Given the description of an element on the screen output the (x, y) to click on. 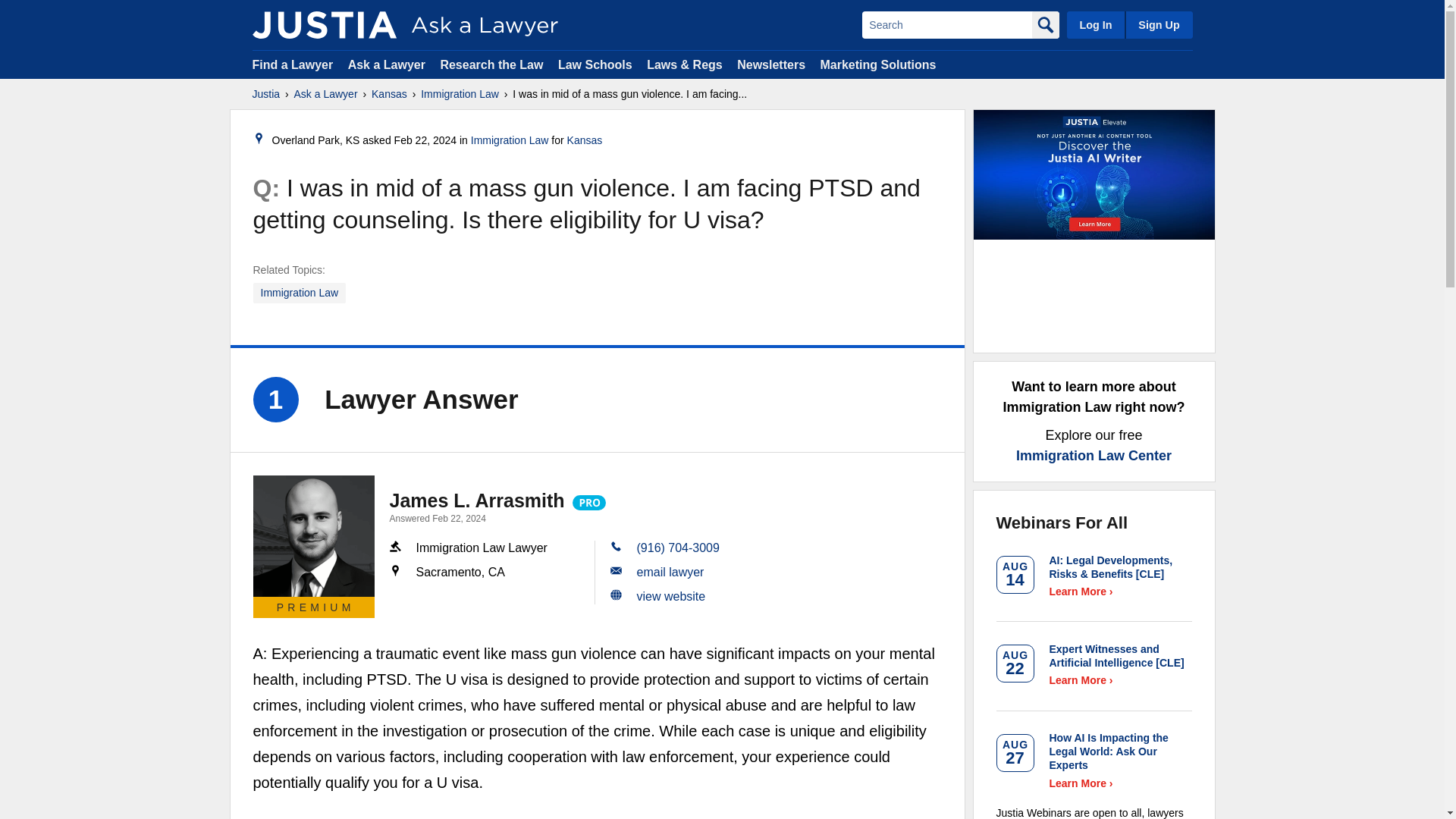
Ask a Lawyer (326, 93)
Newsletters (770, 64)
Research the Law (491, 64)
Ask a Lawyer (388, 64)
Kansas (389, 93)
Justia (323, 24)
Search (945, 24)
Log In (1094, 24)
James L. Arrasmith (477, 500)
email lawyer (670, 571)
